Given the description of an element on the screen output the (x, y) to click on. 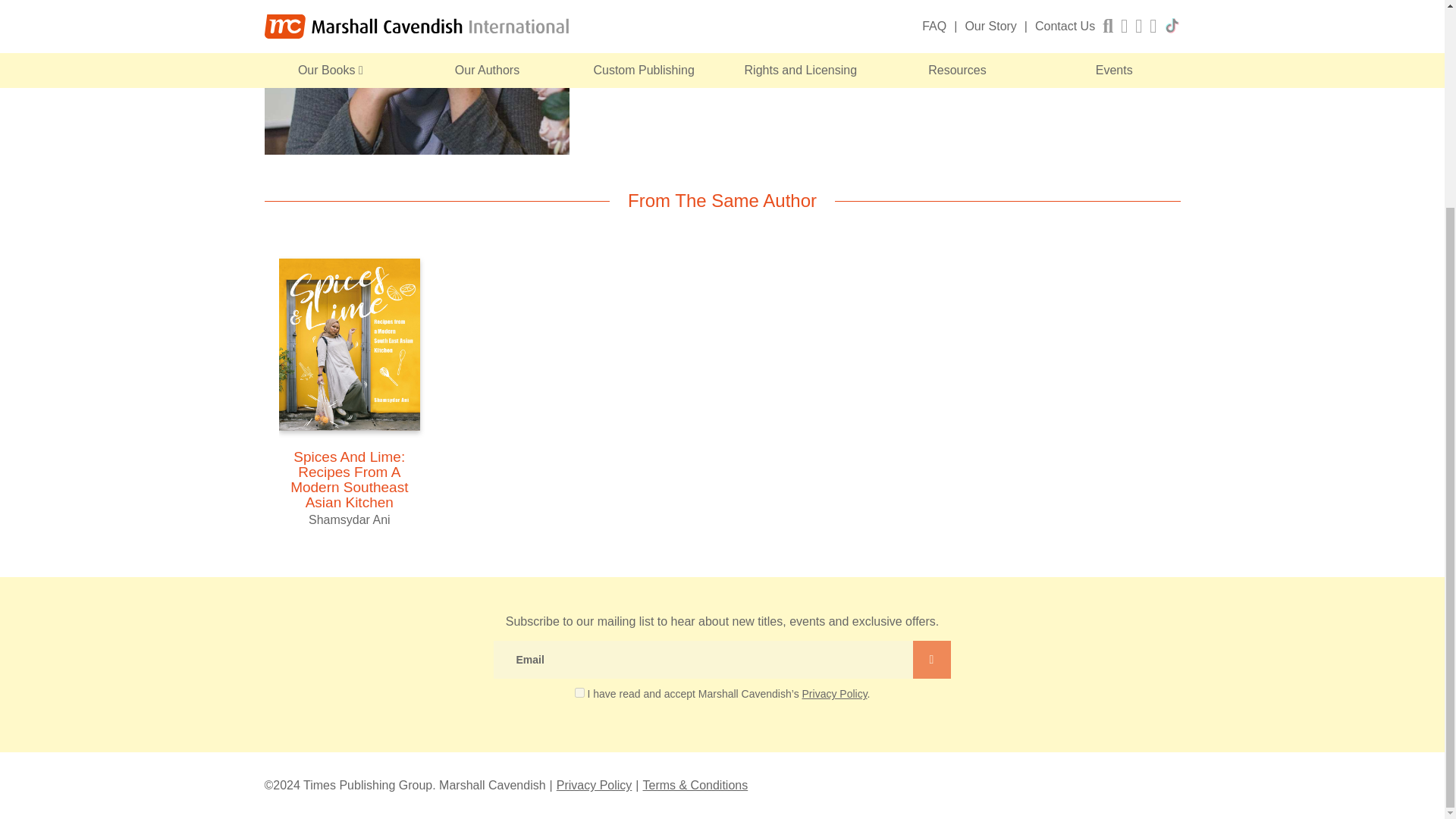
Shamsydar Ani (416, 77)
1 (580, 692)
